Given the description of an element on the screen output the (x, y) to click on. 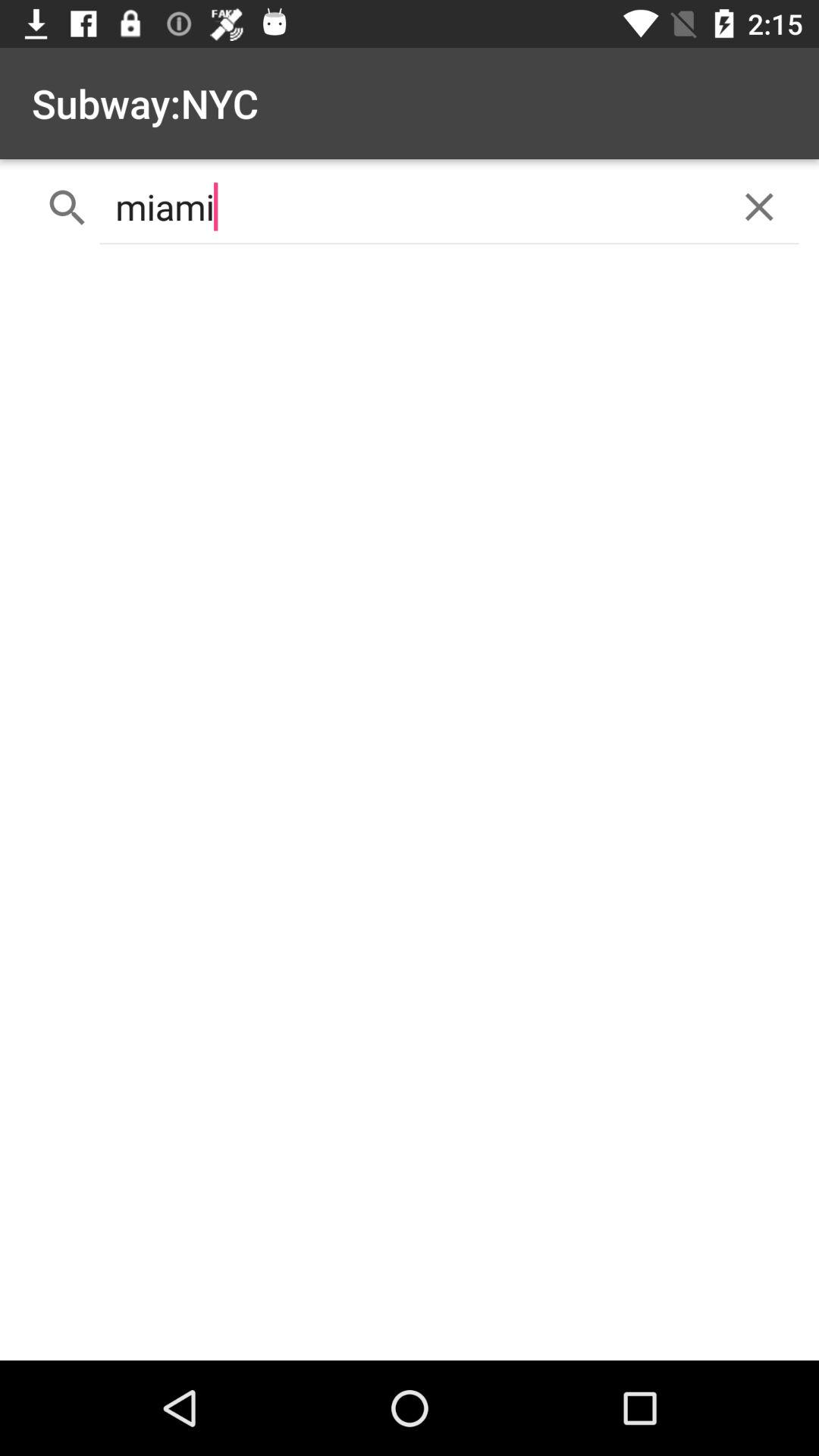
tap miami item (409, 206)
